Given the description of an element on the screen output the (x, y) to click on. 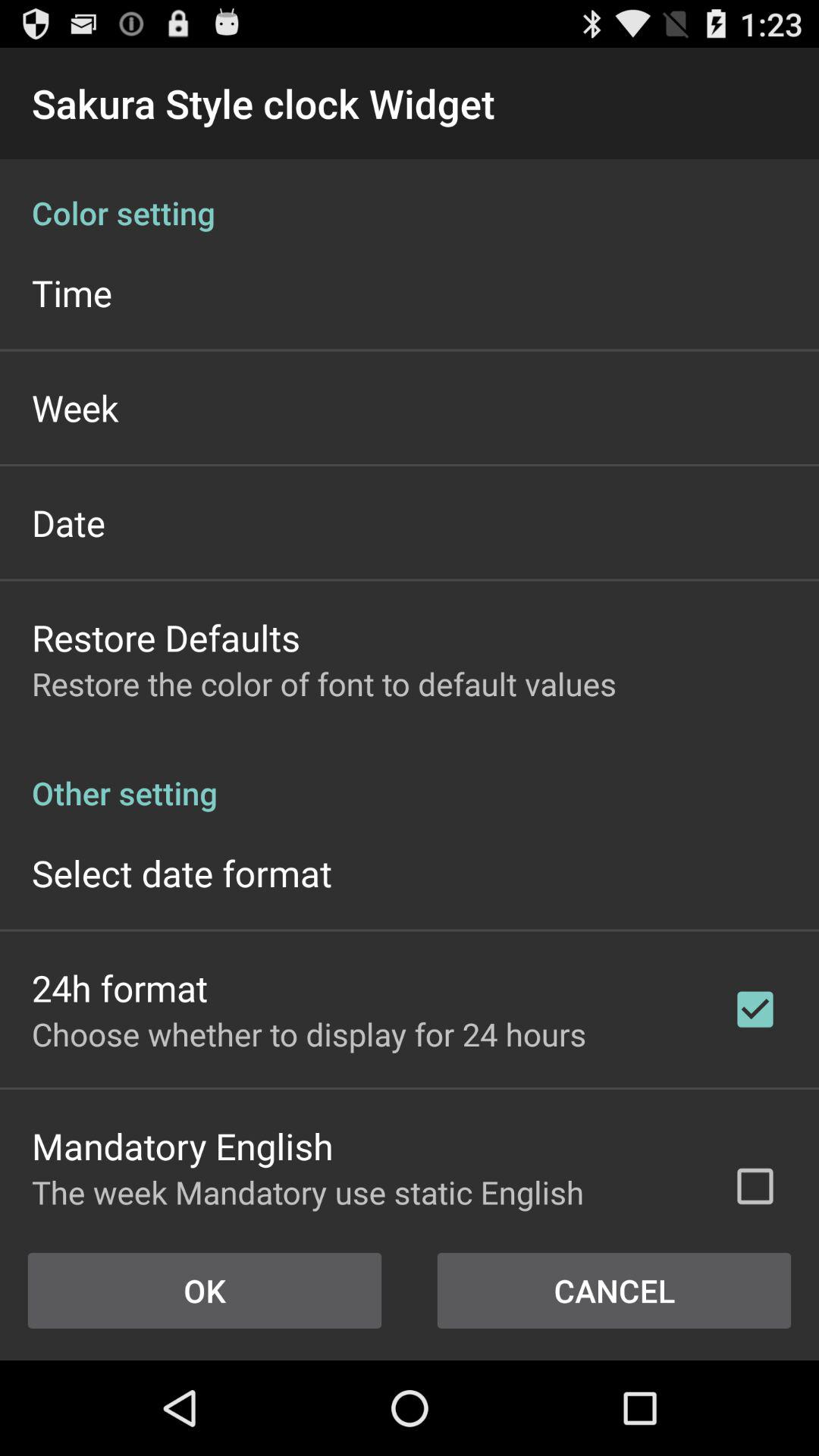
open the ok item (204, 1290)
